Given the description of an element on the screen output the (x, y) to click on. 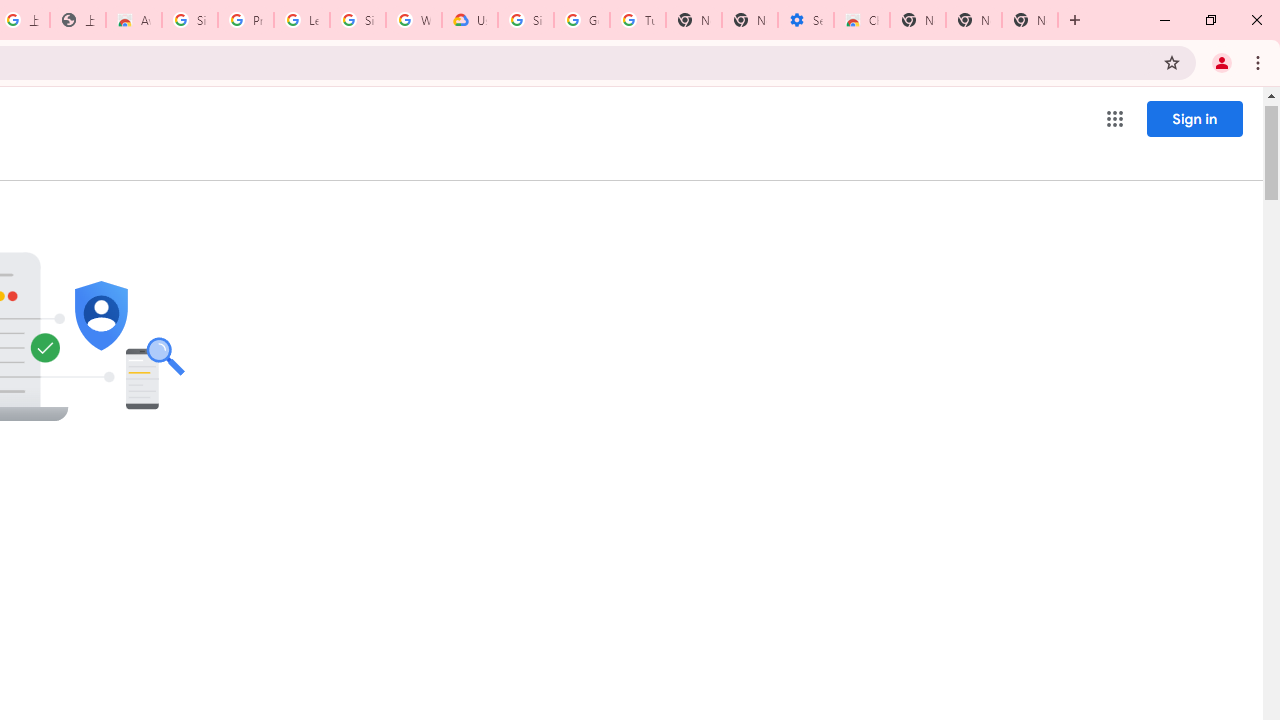
Chrome Web Store - Accessibility extensions (861, 20)
Who are Google's partners? - Privacy and conditions - Google (413, 20)
Turn cookies on or off - Computer - Google Account Help (637, 20)
Awesome Screen Recorder & Screenshot - Chrome Web Store (134, 20)
